Given the description of an element on the screen output the (x, y) to click on. 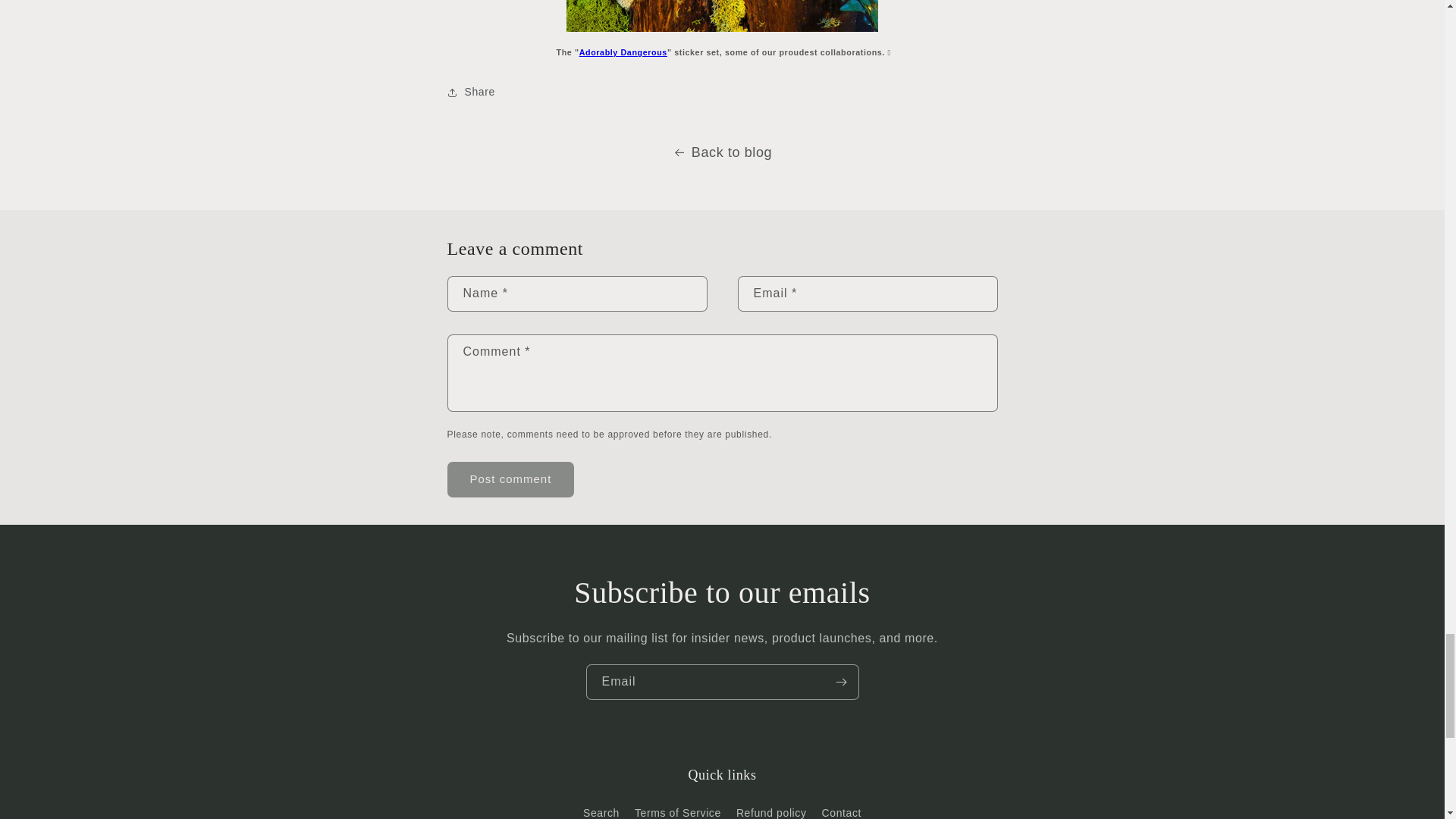
Adorably Dangerous Mushroom Sticker Set (721, 15)
Post comment (510, 479)
Adorably Dangerous Mushroom Sticker Set (622, 51)
